Given the description of an element on the screen output the (x, y) to click on. 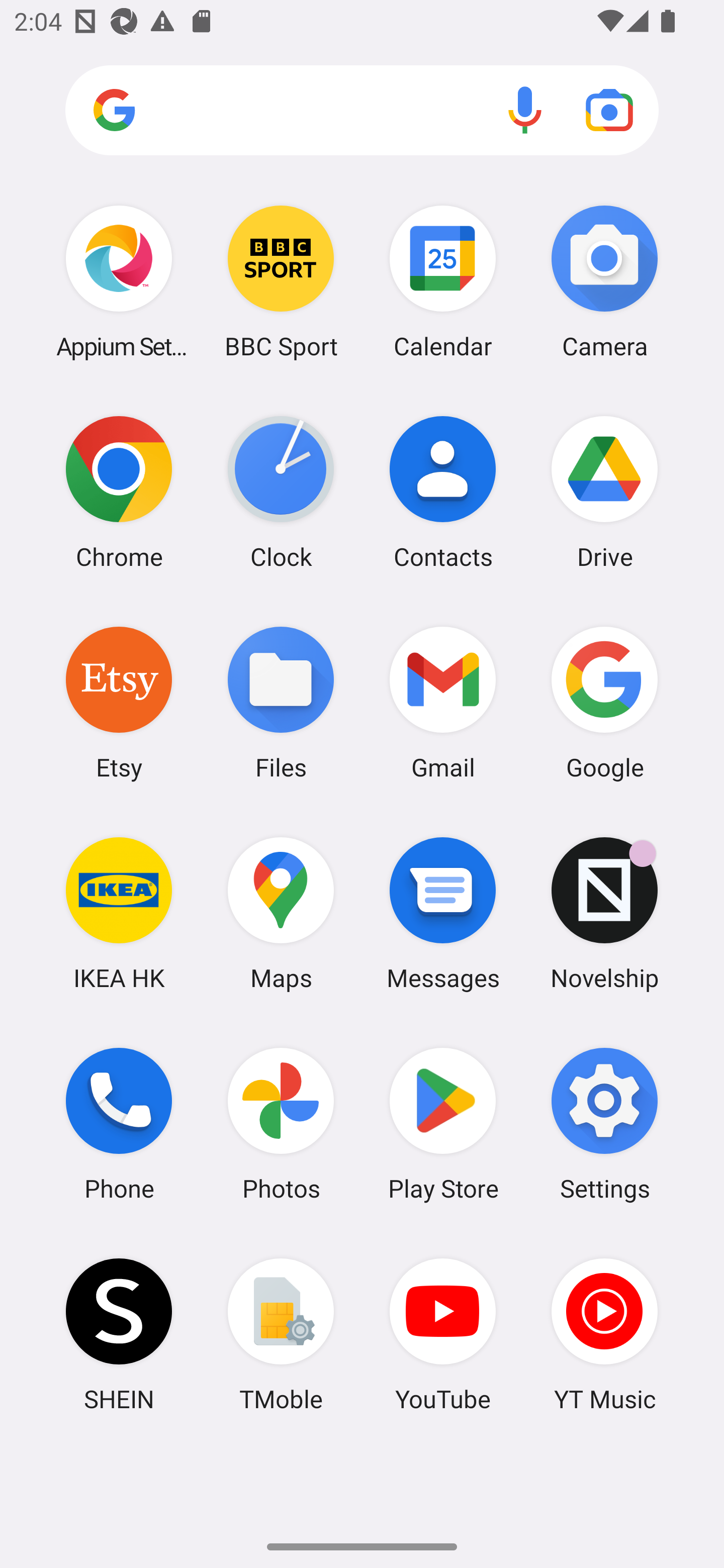
Search apps, web and more (361, 110)
Voice search (524, 109)
Google Lens (608, 109)
Appium Settings (118, 281)
BBC Sport (280, 281)
Calendar (443, 281)
Camera (604, 281)
Chrome (118, 492)
Clock (280, 492)
Contacts (443, 492)
Drive (604, 492)
Etsy (118, 702)
Files (280, 702)
Gmail (443, 702)
Google (604, 702)
IKEA HK (118, 913)
Maps (280, 913)
Messages (443, 913)
Novelship Novelship has 9 notifications (604, 913)
Phone (118, 1124)
Photos (280, 1124)
Play Store (443, 1124)
Settings (604, 1124)
SHEIN (118, 1334)
TMoble (280, 1334)
YouTube (443, 1334)
YT Music (604, 1334)
